Given the description of an element on the screen output the (x, y) to click on. 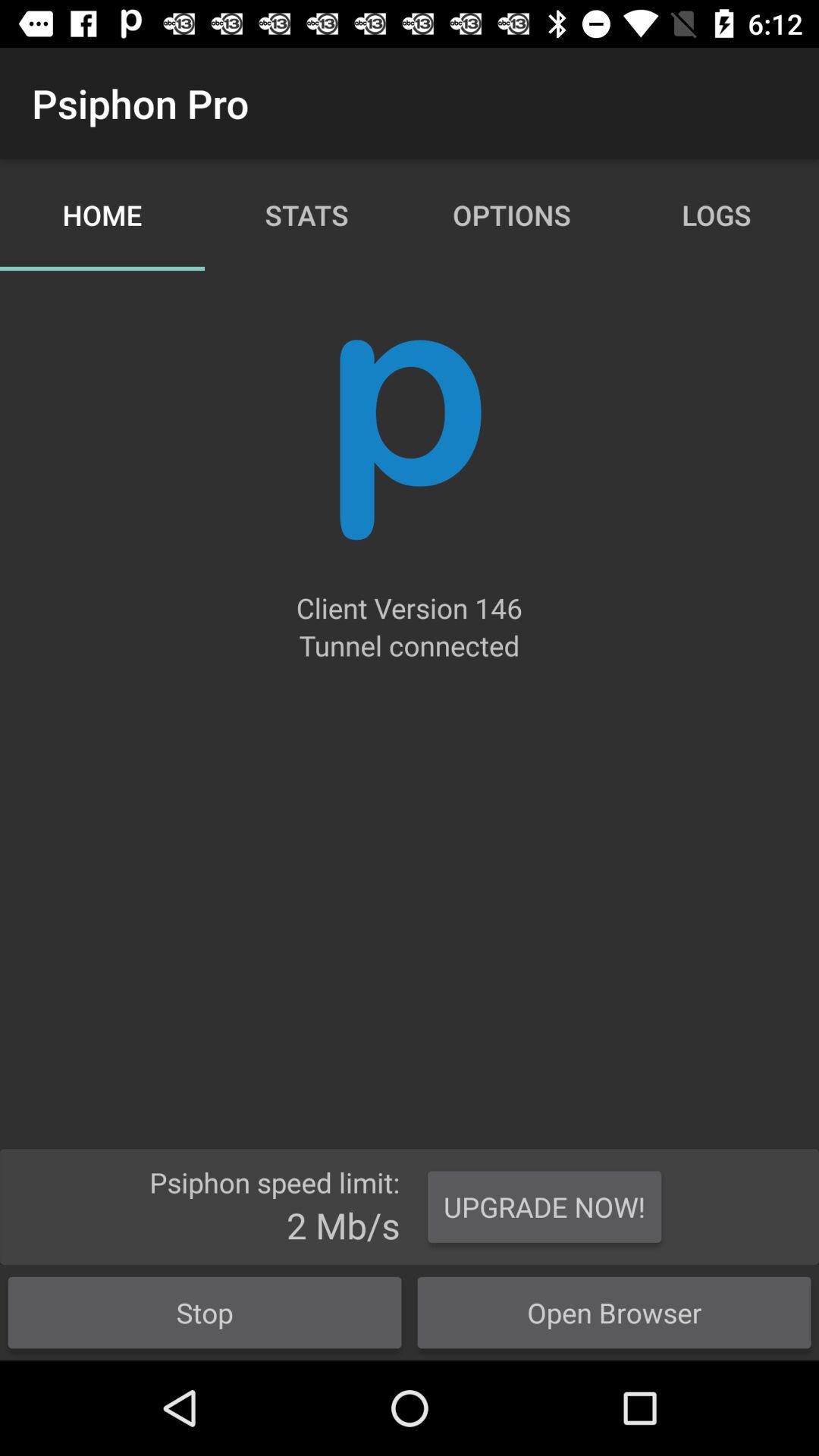
jump until stop (204, 1312)
